Given the description of an element on the screen output the (x, y) to click on. 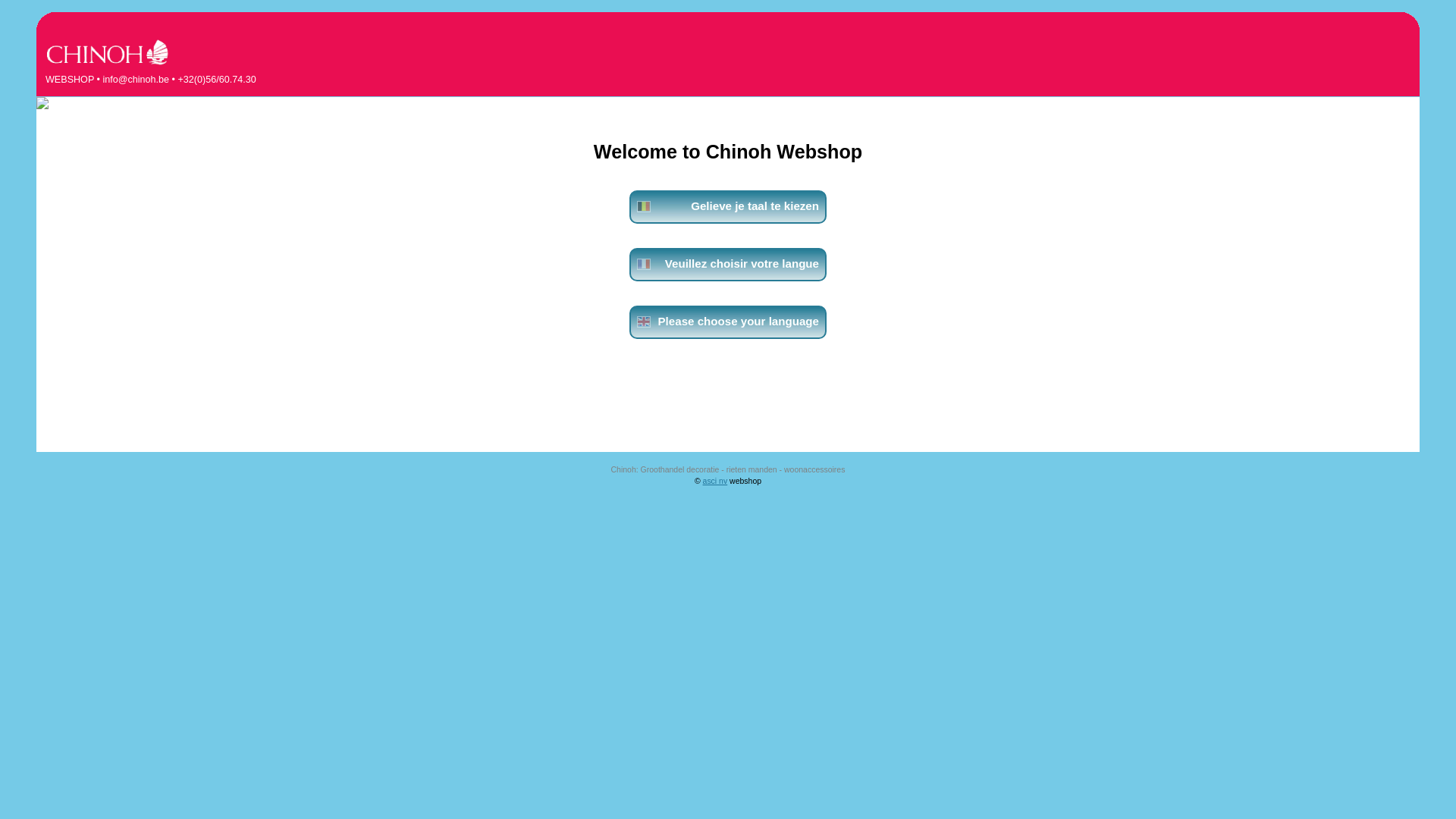
info@chinoh.be Element type: text (135, 79)
asci nv Element type: text (715, 480)
English Element type: hover (643, 321)
Nederlands Element type: hover (643, 206)
